Given the description of an element on the screen output the (x, y) to click on. 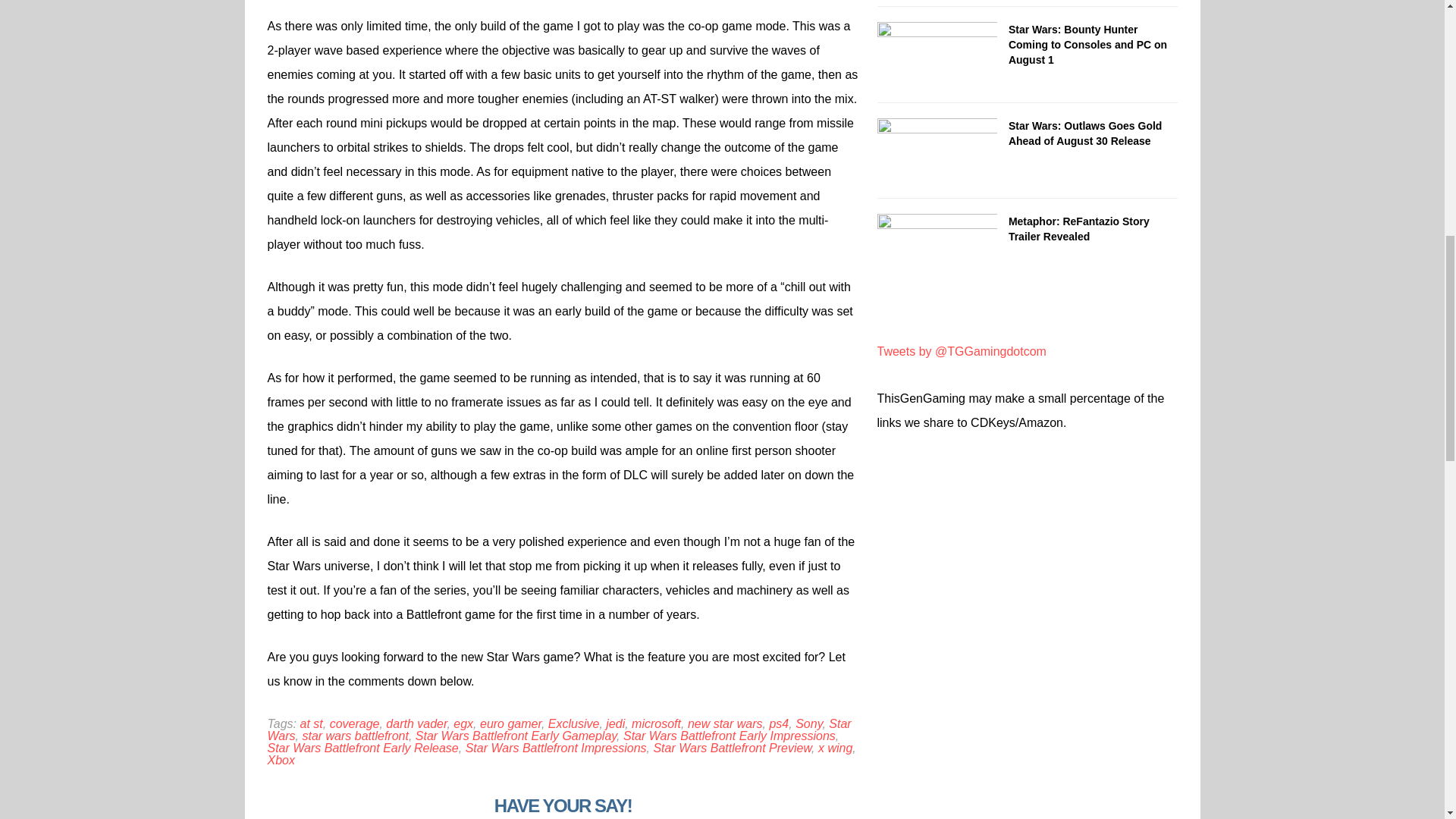
darth vader (415, 723)
at st (311, 723)
egx (462, 723)
coverage (355, 723)
